Given the description of an element on the screen output the (x, y) to click on. 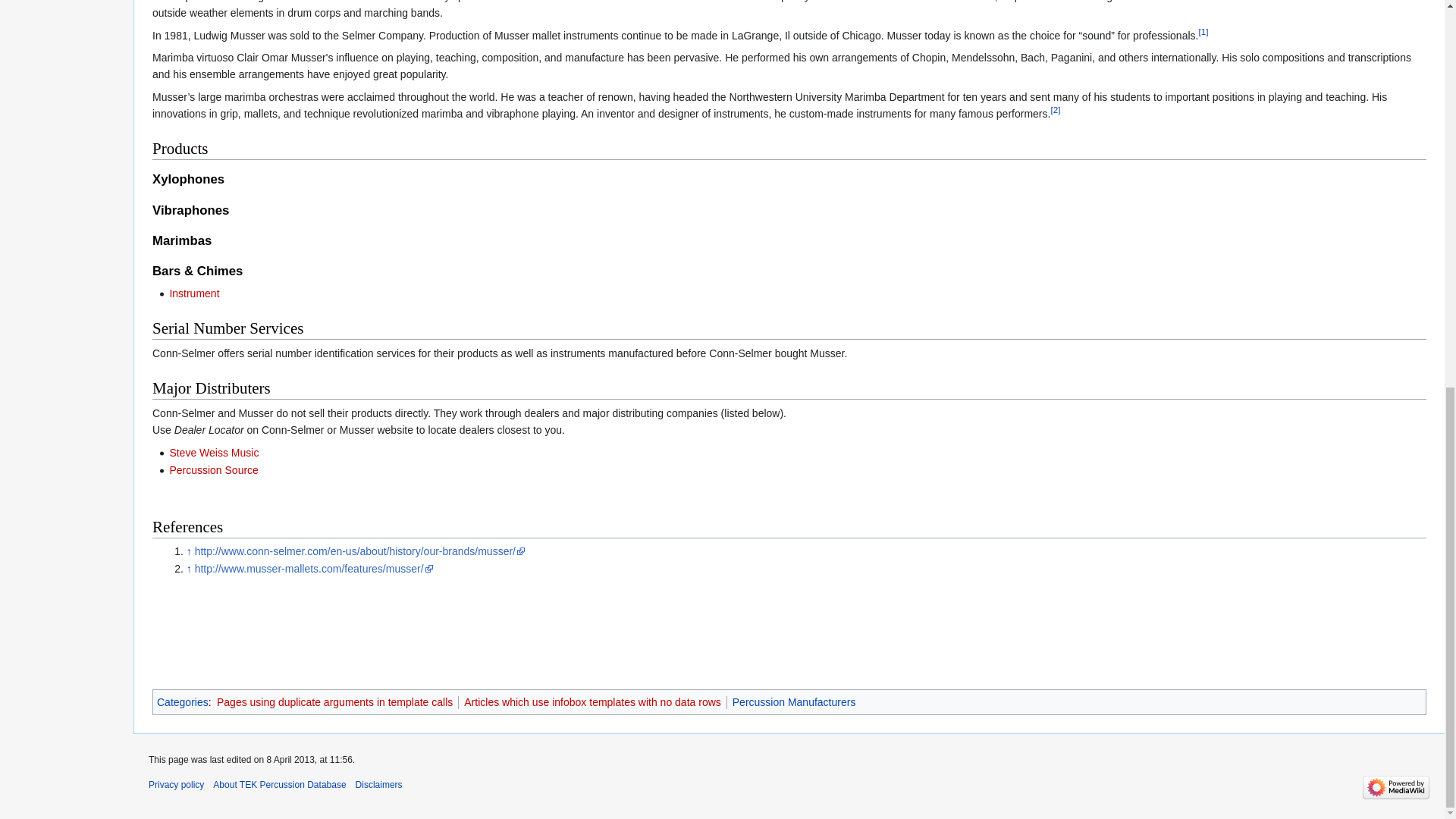
Special:Categories (182, 702)
Category:Percussion Manufacturers (794, 702)
Categories (182, 702)
Steve Weiss Music (213, 452)
Percussion Source (213, 469)
Articles which use infobox templates with no data rows (592, 702)
Percussion Manufacturers (794, 702)
Pages using duplicate arguments in template calls (334, 702)
Instrument (193, 293)
